Given the description of an element on the screen output the (x, y) to click on. 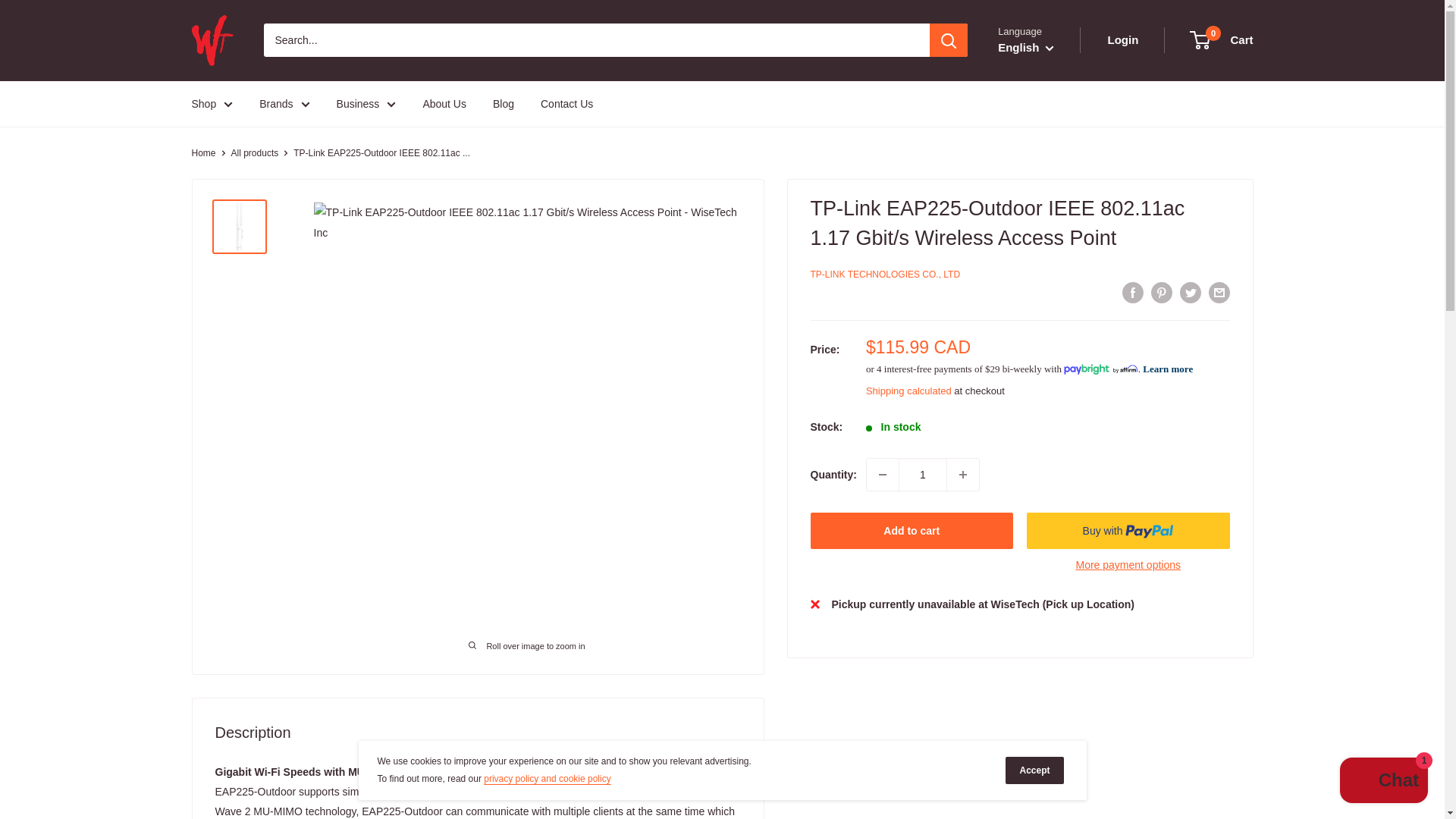
1 (922, 474)
Decrease quantity by 1 (882, 474)
Privacy Policy (546, 778)
Increase quantity by 1 (962, 474)
Shopify online store chat (1383, 781)
